Given the description of an element on the screen output the (x, y) to click on. 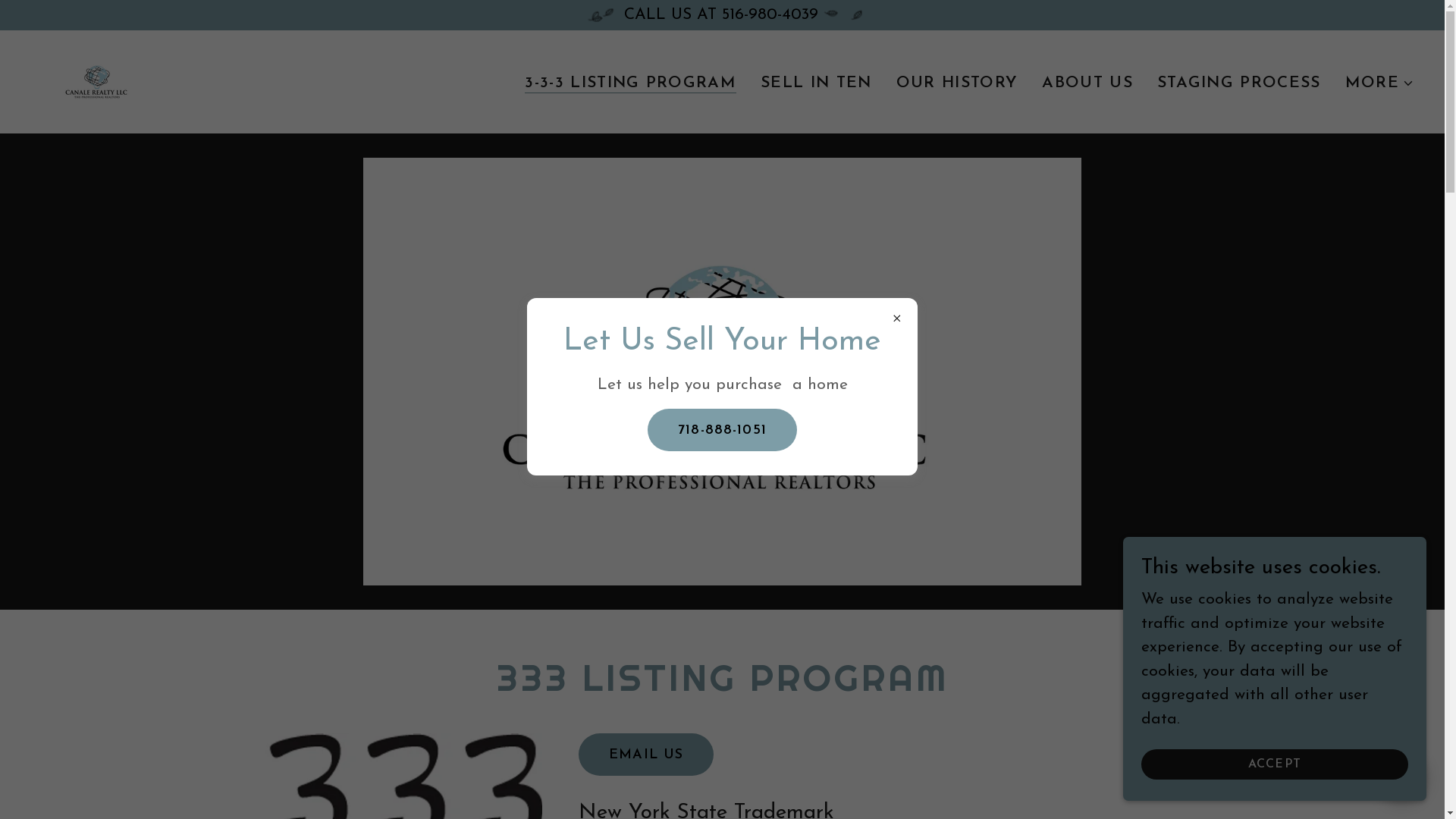
ACCEPT Element type: text (1274, 764)
ABOUT US Element type: text (1087, 83)
CANALE REALTY LLC. Element type: hover (96, 79)
MORE Element type: text (1379, 83)
OUR HISTORY Element type: text (956, 83)
3-3-3 LISTING PROGRAM Element type: text (630, 83)
718-888-1051 Element type: text (722, 429)
STAGING PROCESS Element type: text (1238, 83)
EMAIL US Element type: text (645, 754)
SELL IN TEN Element type: text (816, 83)
